Given the description of an element on the screen output the (x, y) to click on. 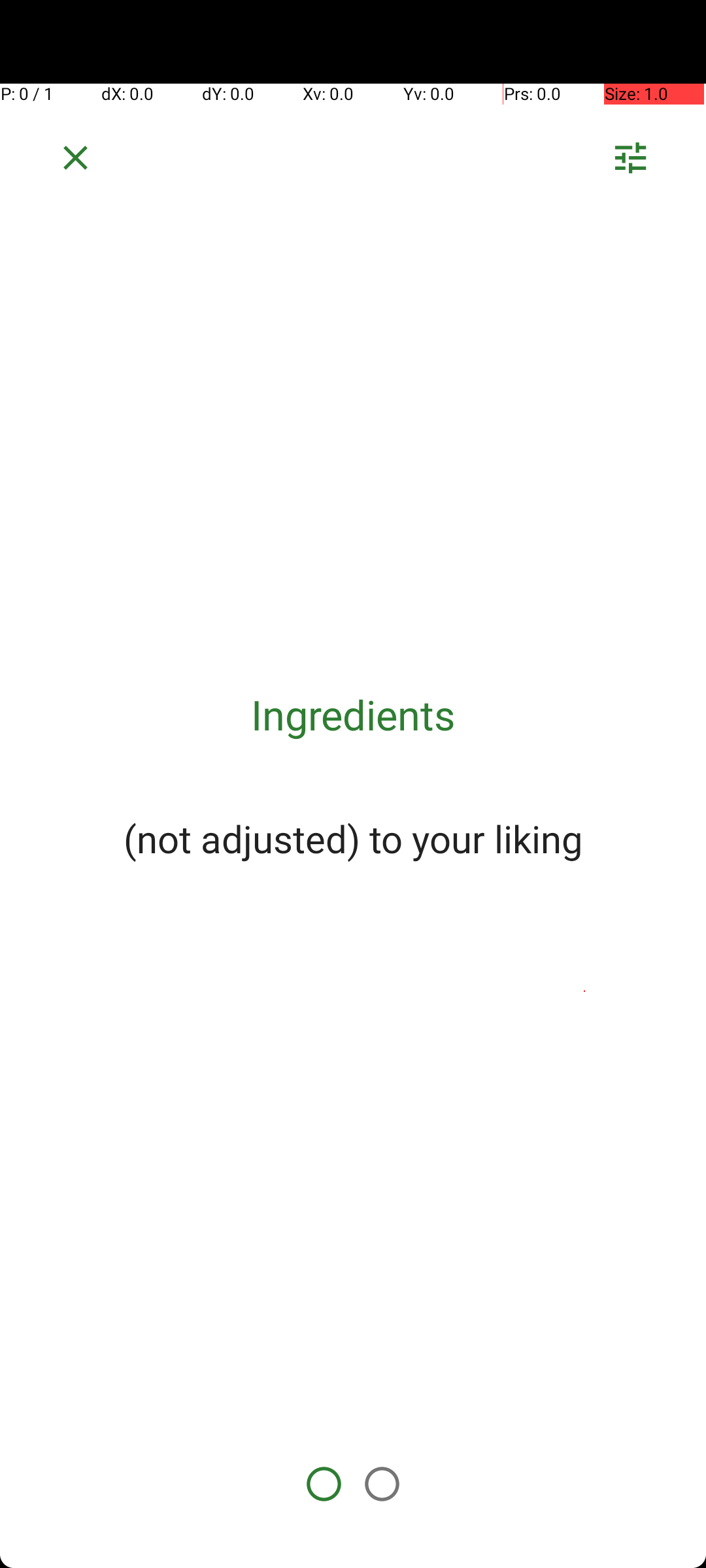
(not adjusted) to your liking Element type: android.widget.TextView (352, 838)
